Given the description of an element on the screen output the (x, y) to click on. 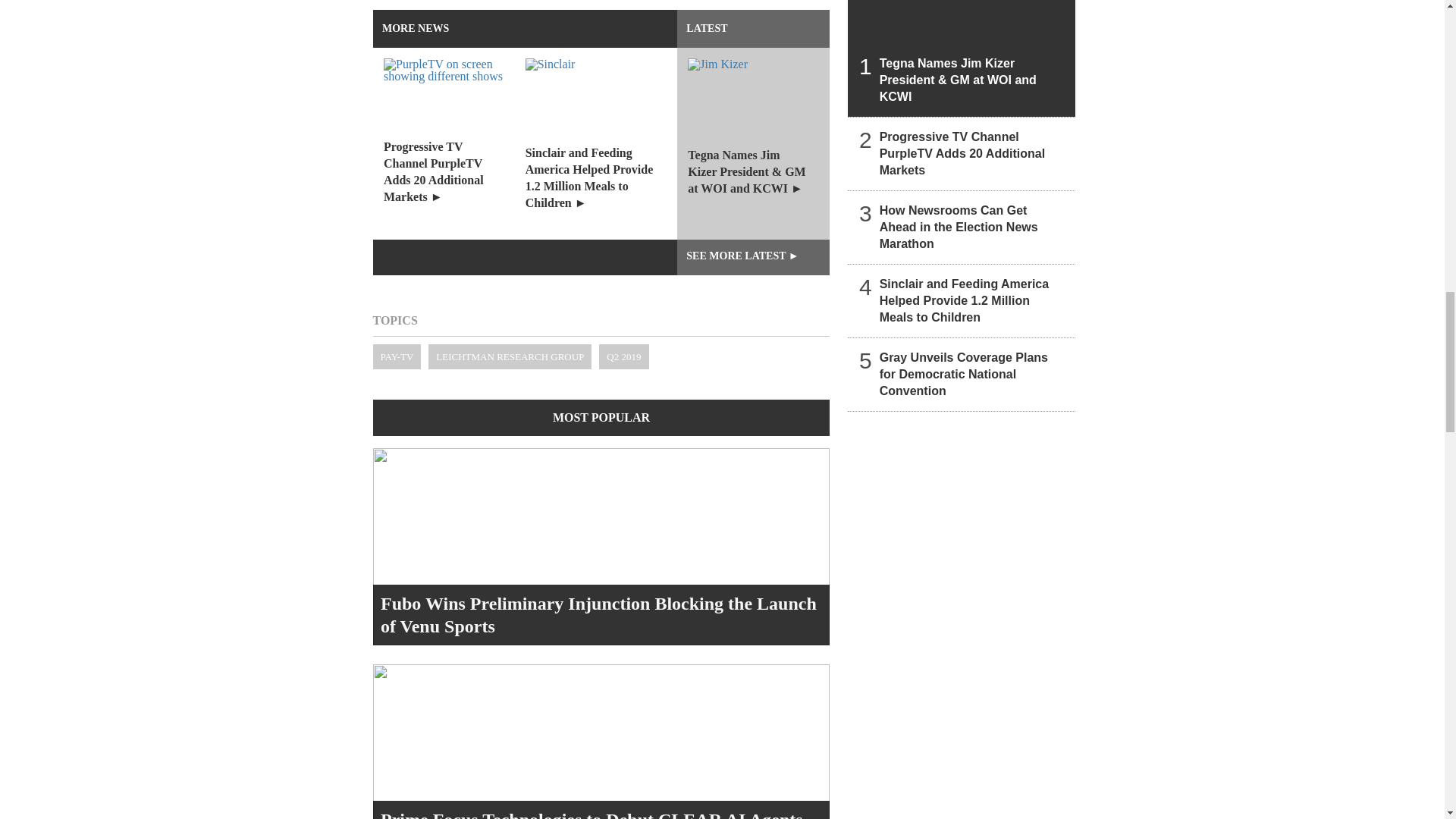
Q2 2019 (622, 356)
LEICHTMAN RESEARCH GROUP (509, 356)
PAY-TV (397, 356)
